Given the description of an element on the screen output the (x, y) to click on. 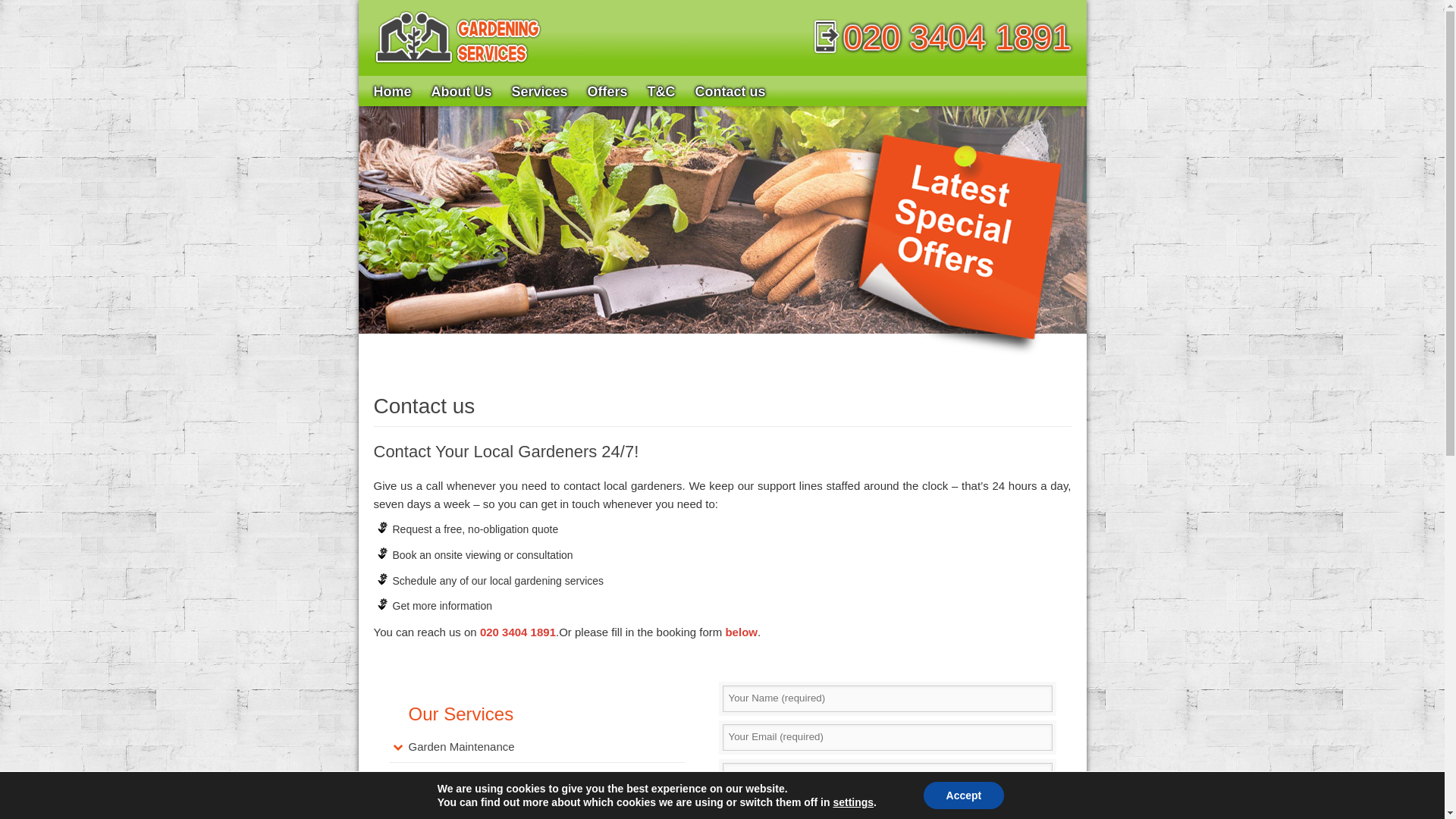
Services (540, 91)
Contact us (730, 91)
Terms and Conditions (661, 91)
Contact us (730, 91)
About Us (462, 91)
Home (393, 91)
below (741, 631)
020 3404 1891 (941, 37)
Gardeners Prices (607, 91)
Gardeners London (393, 91)
Call Us Now (941, 37)
Offers (607, 91)
Accept (963, 795)
020 3404 1891 (518, 631)
